Given the description of an element on the screen output the (x, y) to click on. 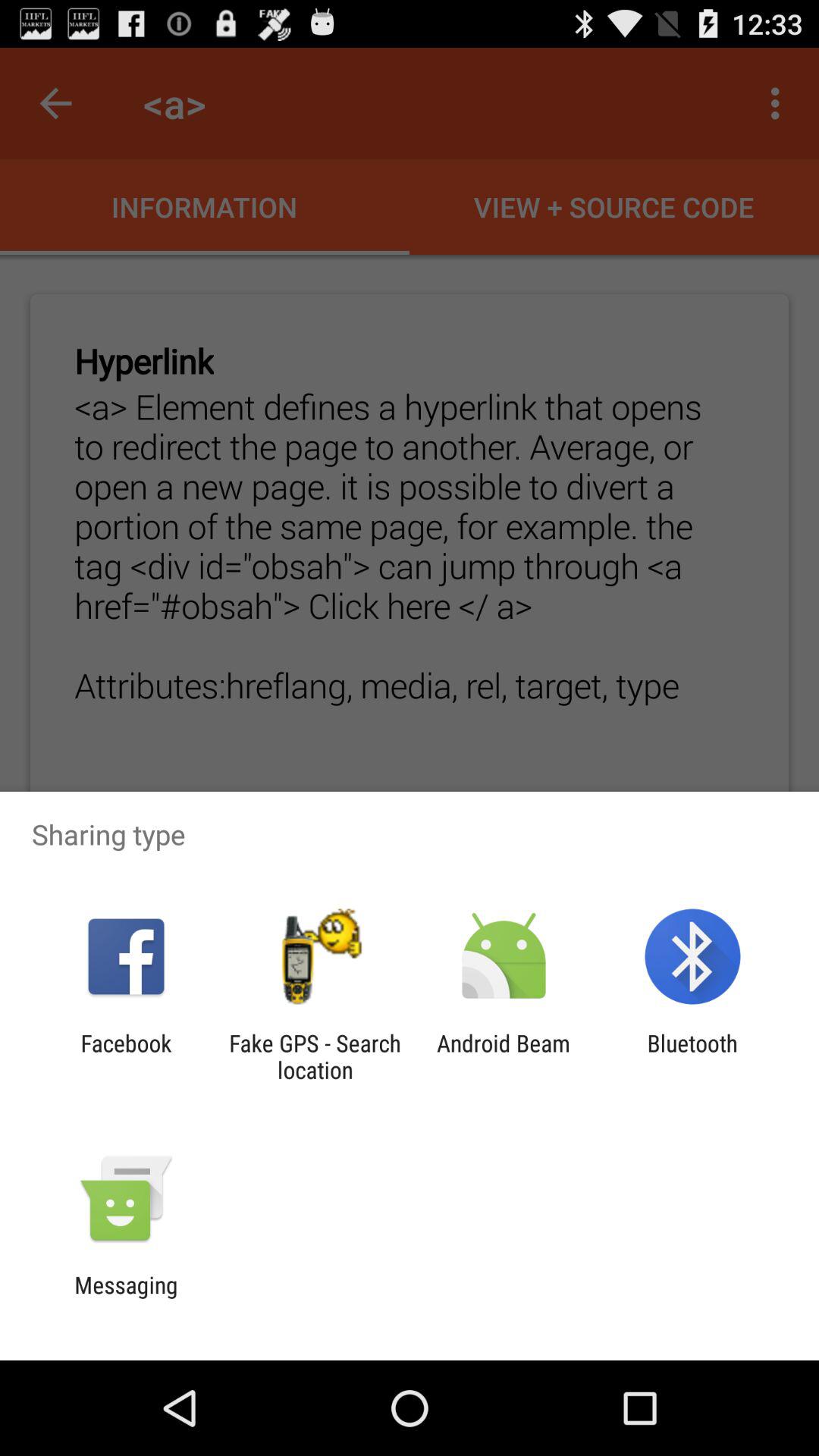
flip to the fake gps search (314, 1056)
